Given the description of an element on the screen output the (x, y) to click on. 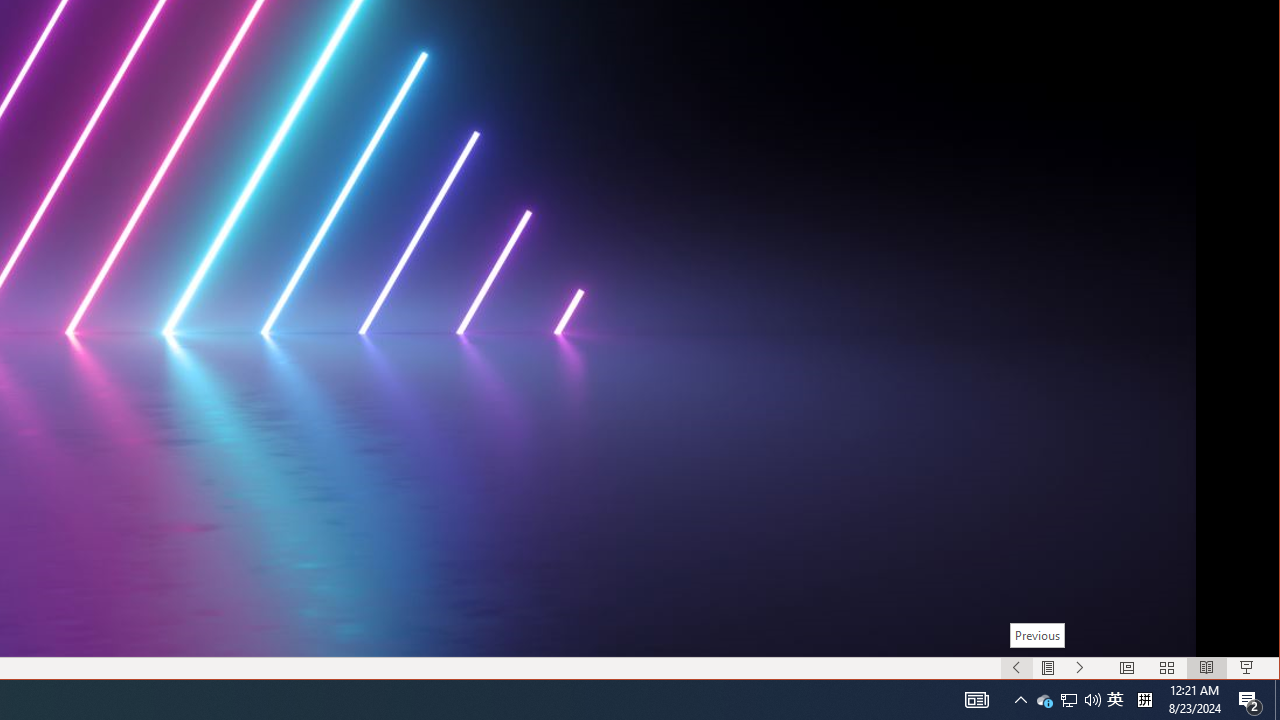
Previous (1115, 699)
Q2790: 100% (1036, 635)
User Promoted Notification Area (1092, 699)
Tray Input Indicator - Chinese (Simplified, China) (1068, 699)
Menu On (1144, 699)
Show desktop (1069, 699)
Notification Chevron (1048, 668)
AutomationID: 4105 (1277, 699)
Action Center, 2 new notifications (1020, 699)
